Given the description of an element on the screen output the (x, y) to click on. 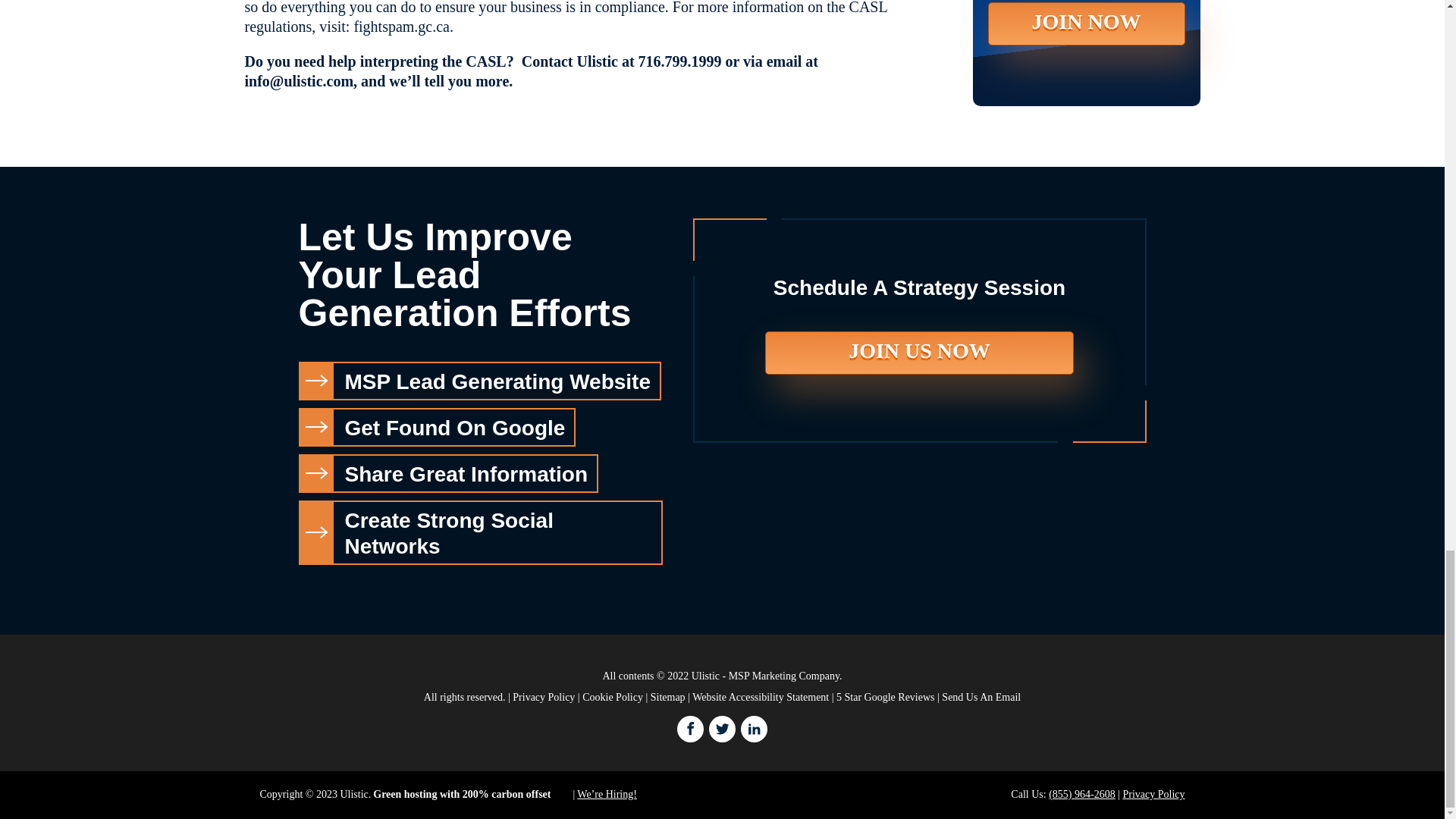
JOIN US NOW (919, 352)
Sitemap (667, 696)
5 Star Google Reviews (884, 696)
Cookie Policy (612, 696)
Website Accessibility Statement (760, 696)
Send Us An Email (981, 696)
Privacy Policy (1153, 794)
Privacy Policy (543, 696)
